Given the description of an element on the screen output the (x, y) to click on. 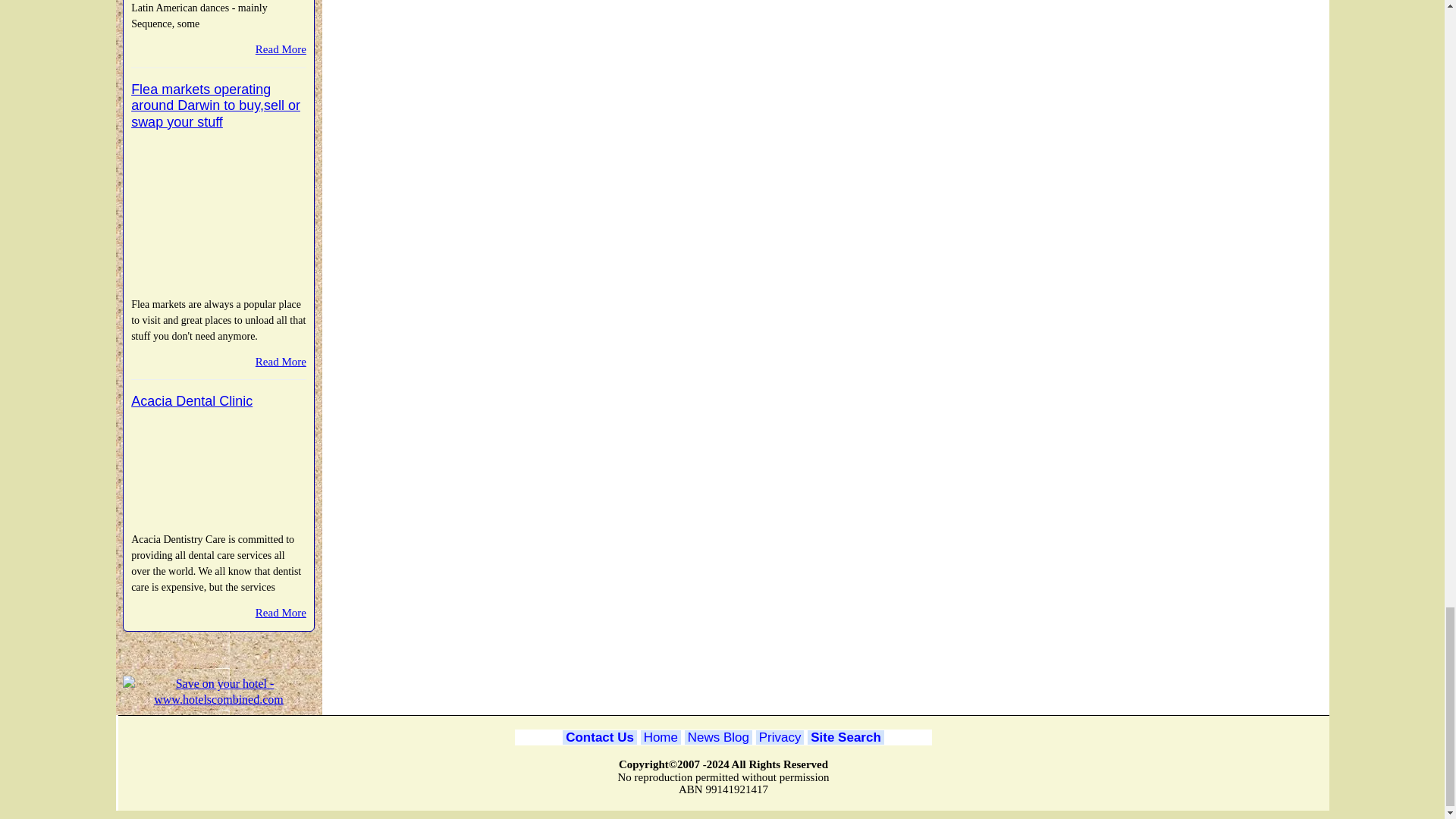
Save on your hotel - www.hotelscombined.com (218, 691)
